Given the description of an element on the screen output the (x, y) to click on. 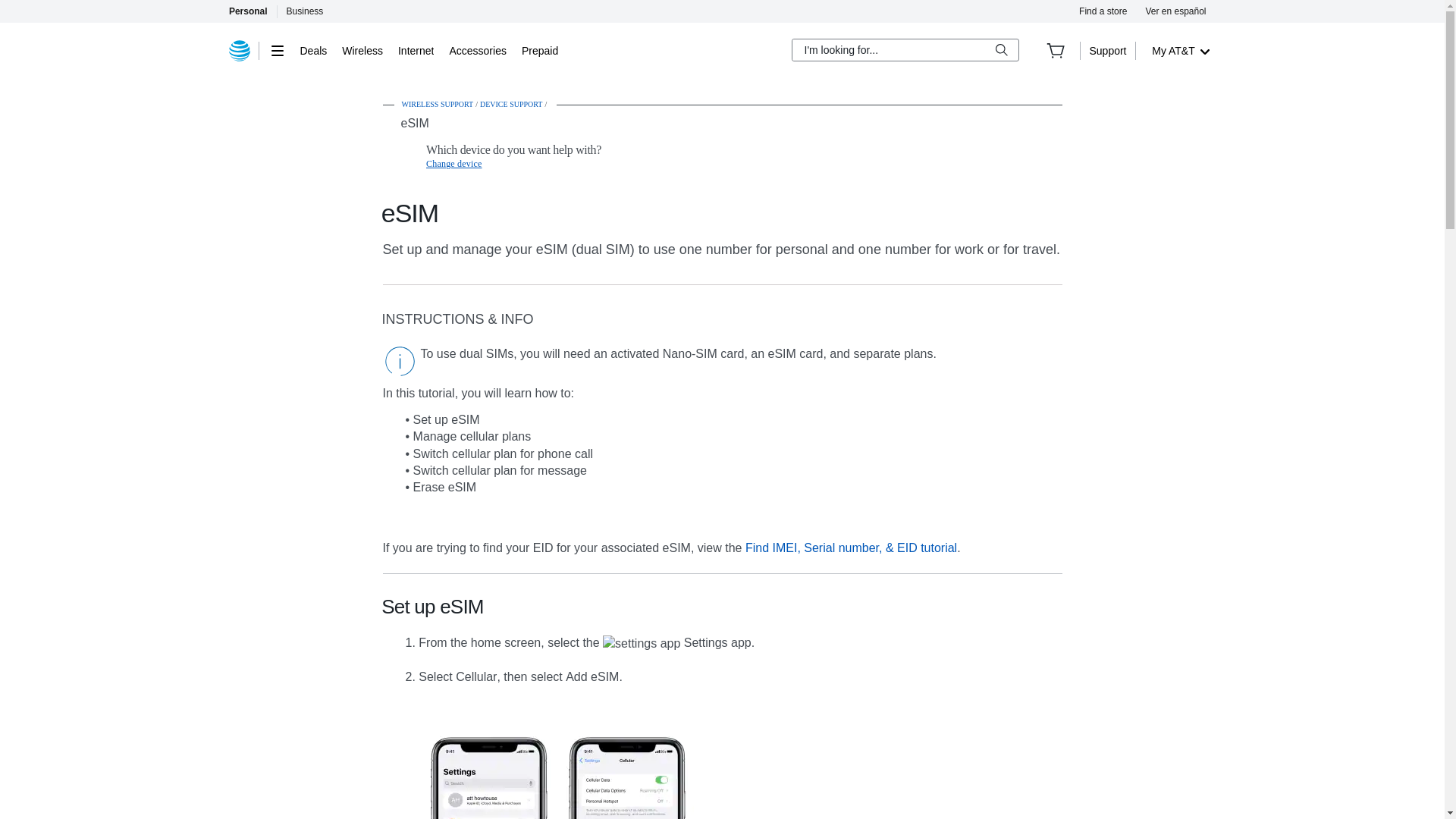
Change device (453, 163)
WIRELESS SUPPORT (437, 103)
Prepaid (539, 50)
Personal (247, 10)
Wireless (362, 50)
Cart (1055, 50)
Internet (415, 50)
DEVICE SUPPORT (510, 103)
Search (1000, 50)
Deals (313, 50)
Find a store (1102, 10)
Support (1107, 50)
Business (305, 10)
Accessories (476, 50)
Support (1107, 50)
